Given the description of an element on the screen output the (x, y) to click on. 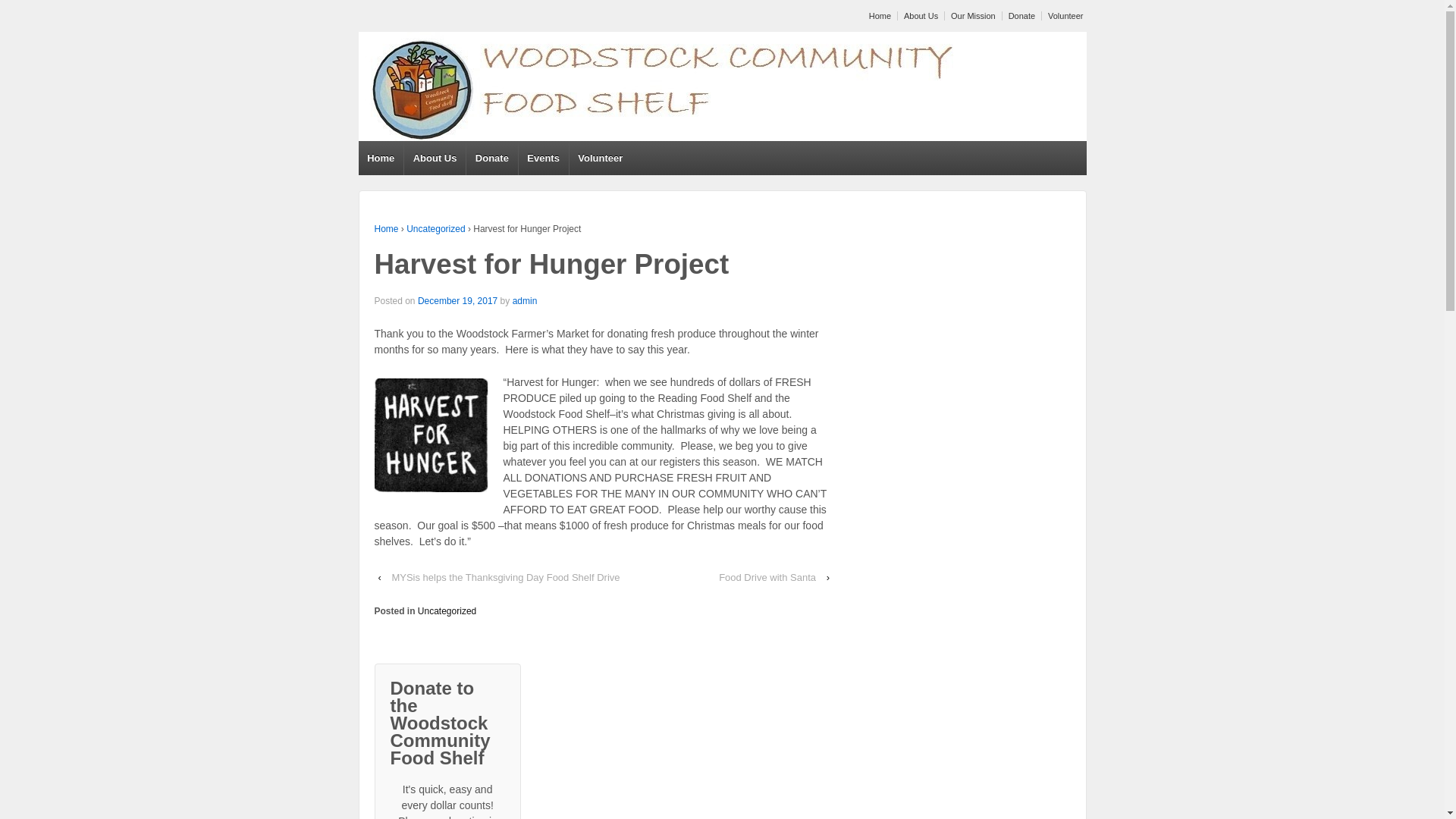
Volunteer (1063, 15)
Uncategorized (435, 228)
December 19, 2017 (457, 300)
Volunteer (600, 157)
View all posts by admin (524, 300)
Our Mission (970, 15)
About Us (434, 157)
admin (524, 300)
Home (380, 157)
Donate (490, 157)
